Given the description of an element on the screen output the (x, y) to click on. 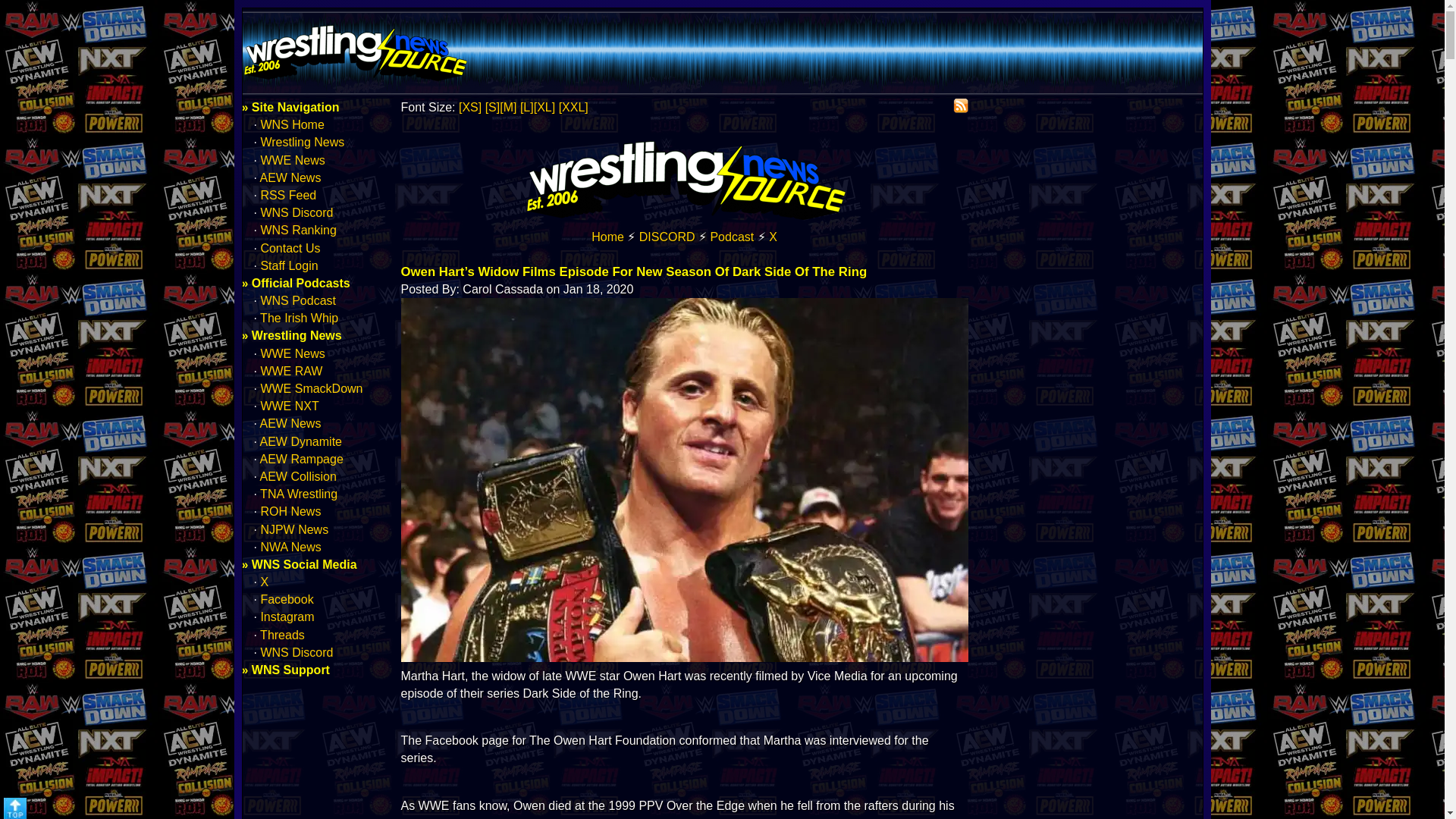
Wrestling News (301, 141)
AEW Dynamite (301, 440)
WNS Podcast (298, 300)
Facebook (286, 599)
WNS Home (607, 236)
NWA News (290, 546)
Threads (282, 634)
WWE RAW (290, 370)
NJPW News (294, 529)
WWE News (292, 353)
